Given the description of an element on the screen output the (x, y) to click on. 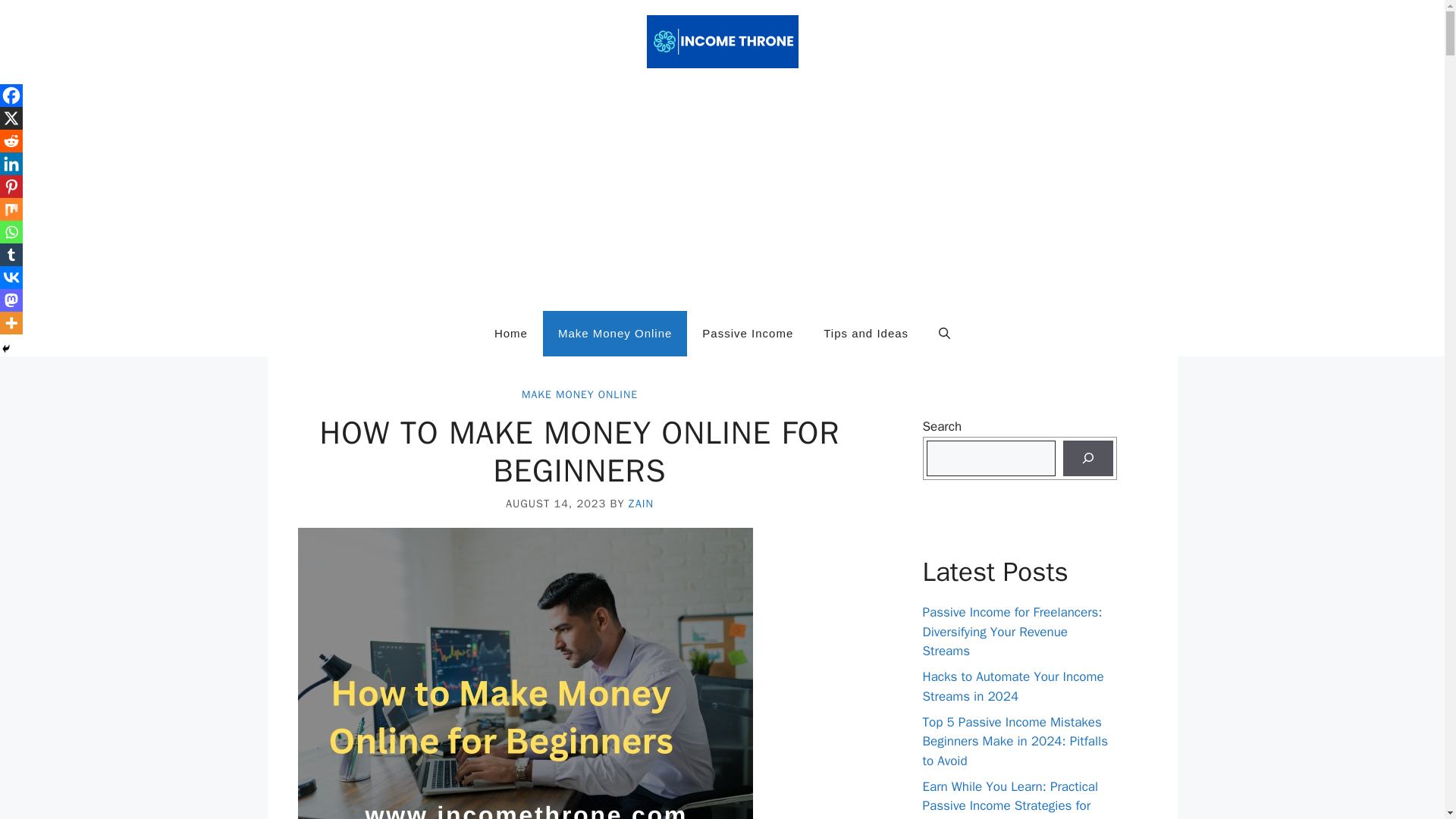
View all posts by zain (640, 503)
Home (511, 333)
Make Money Online (615, 333)
Tips and Ideas (865, 333)
Passive Income (747, 333)
ZAIN (640, 503)
MAKE MONEY ONLINE (579, 394)
